Given the description of an element on the screen output the (x, y) to click on. 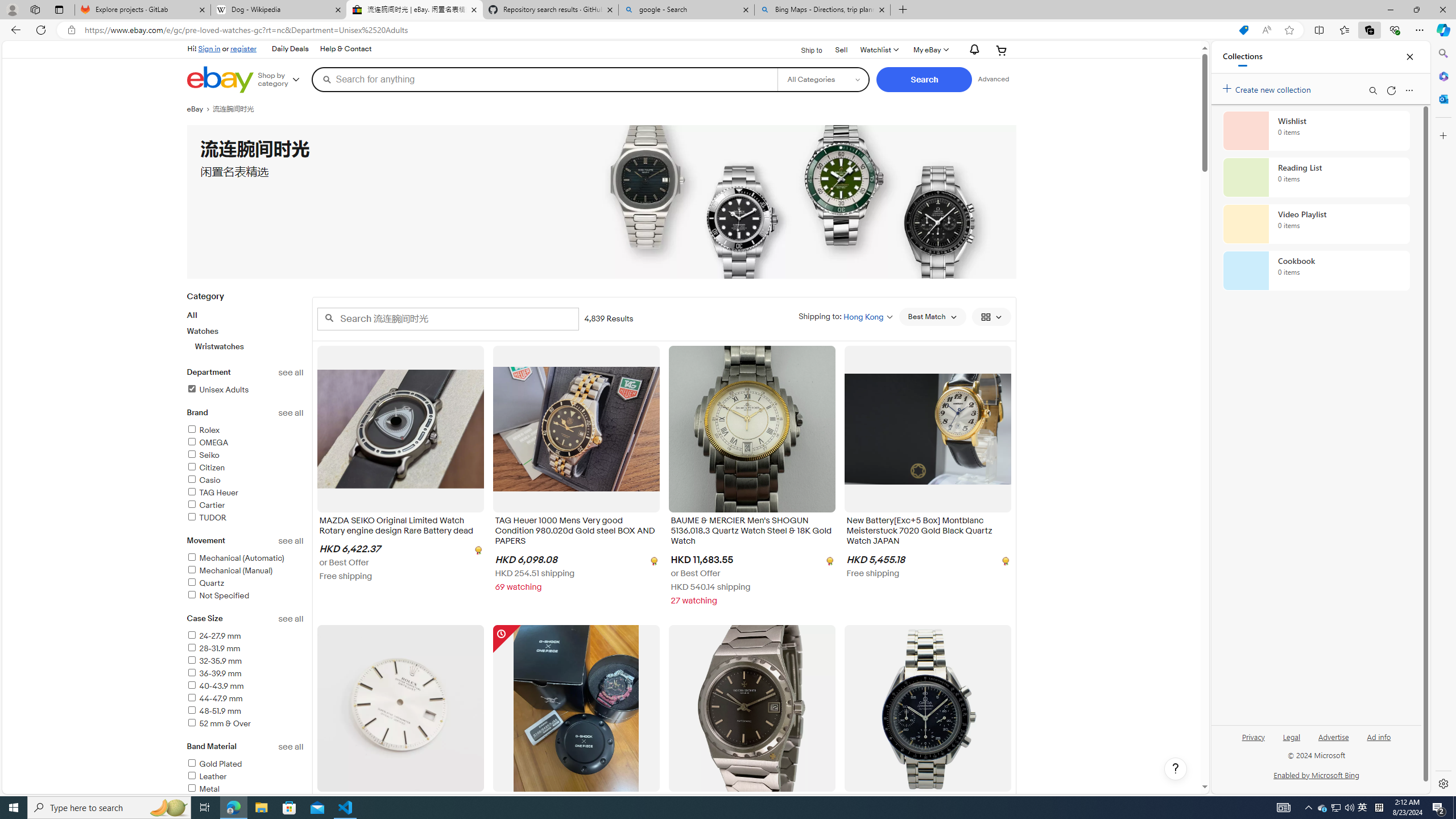
Casio (203, 479)
[object Undefined] (1004, 560)
40-43.9 mm (215, 686)
TUDOR (205, 517)
See all department refinements (291, 372)
eBay (199, 108)
Video Playlist collection, 0 items (1316, 223)
